Given the description of an element on the screen output the (x, y) to click on. 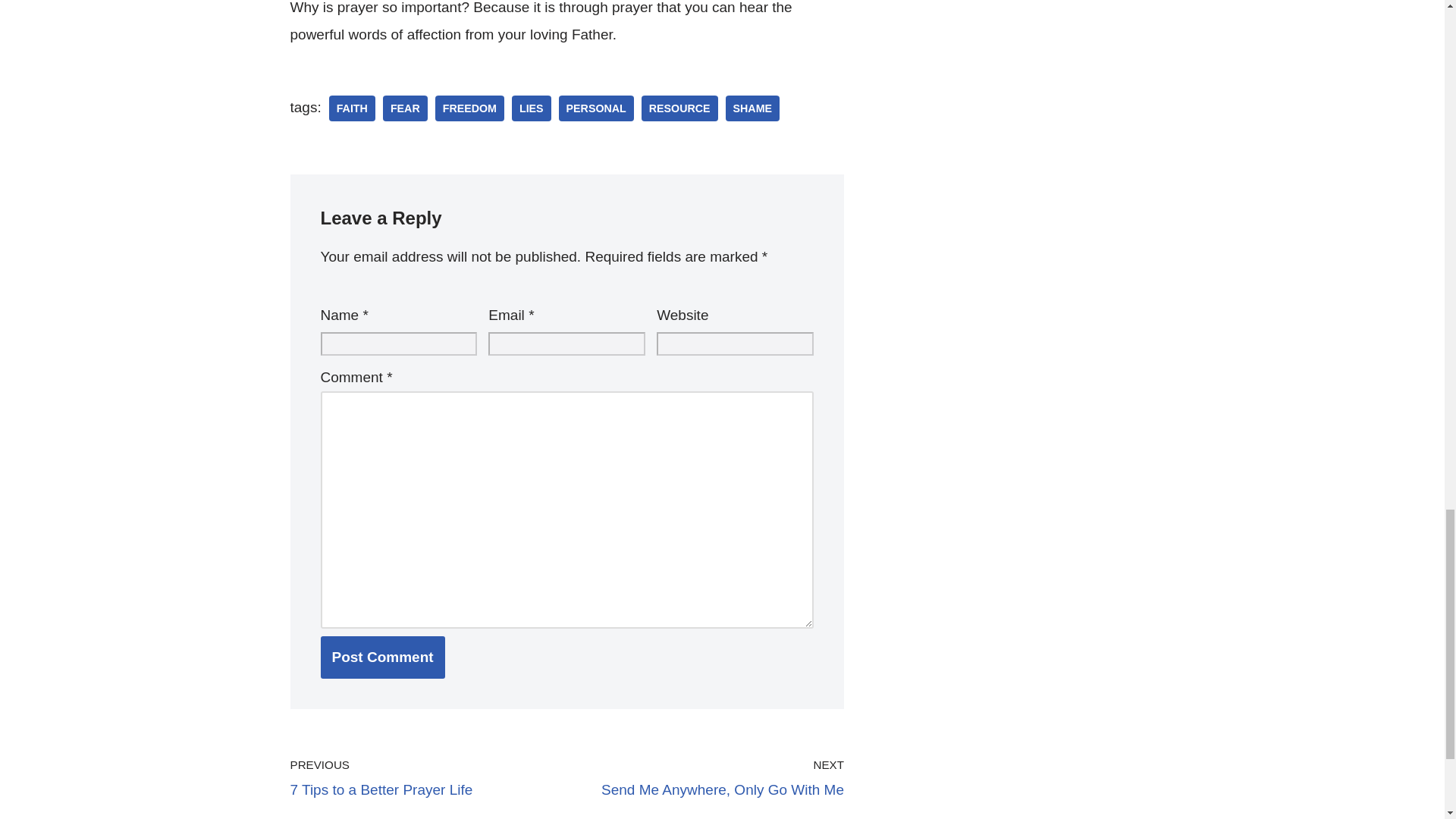
personal (596, 108)
freedom (469, 108)
SHAME (751, 108)
LIES (531, 108)
FEAR (405, 108)
Post Comment (382, 657)
RESOURCE (679, 108)
Post Comment (382, 657)
FREEDOM (469, 108)
fear (405, 108)
lies (531, 108)
FAITH (352, 108)
faith (352, 108)
PERSONAL (596, 108)
